Given the description of an element on the screen output the (x, y) to click on. 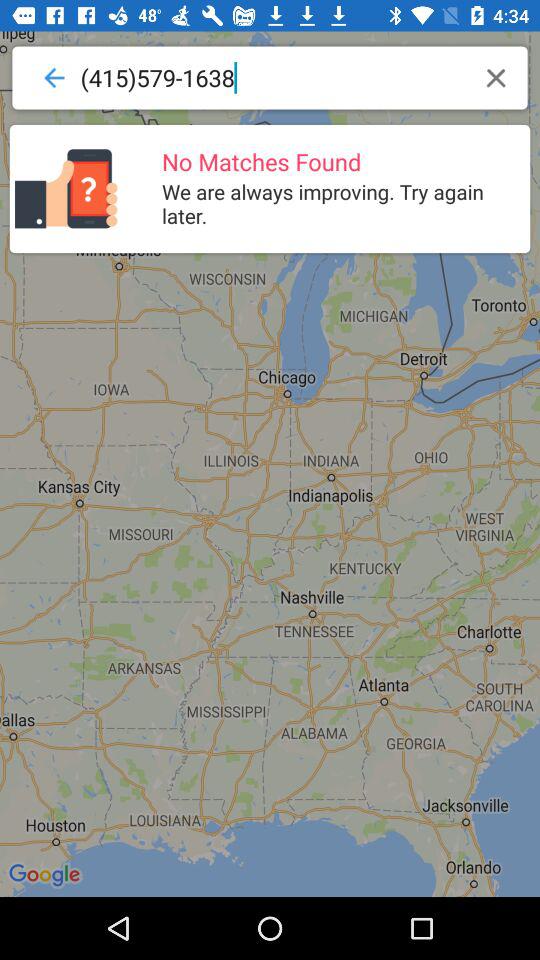
click icon at the top right corner (495, 77)
